Given the description of an element on the screen output the (x, y) to click on. 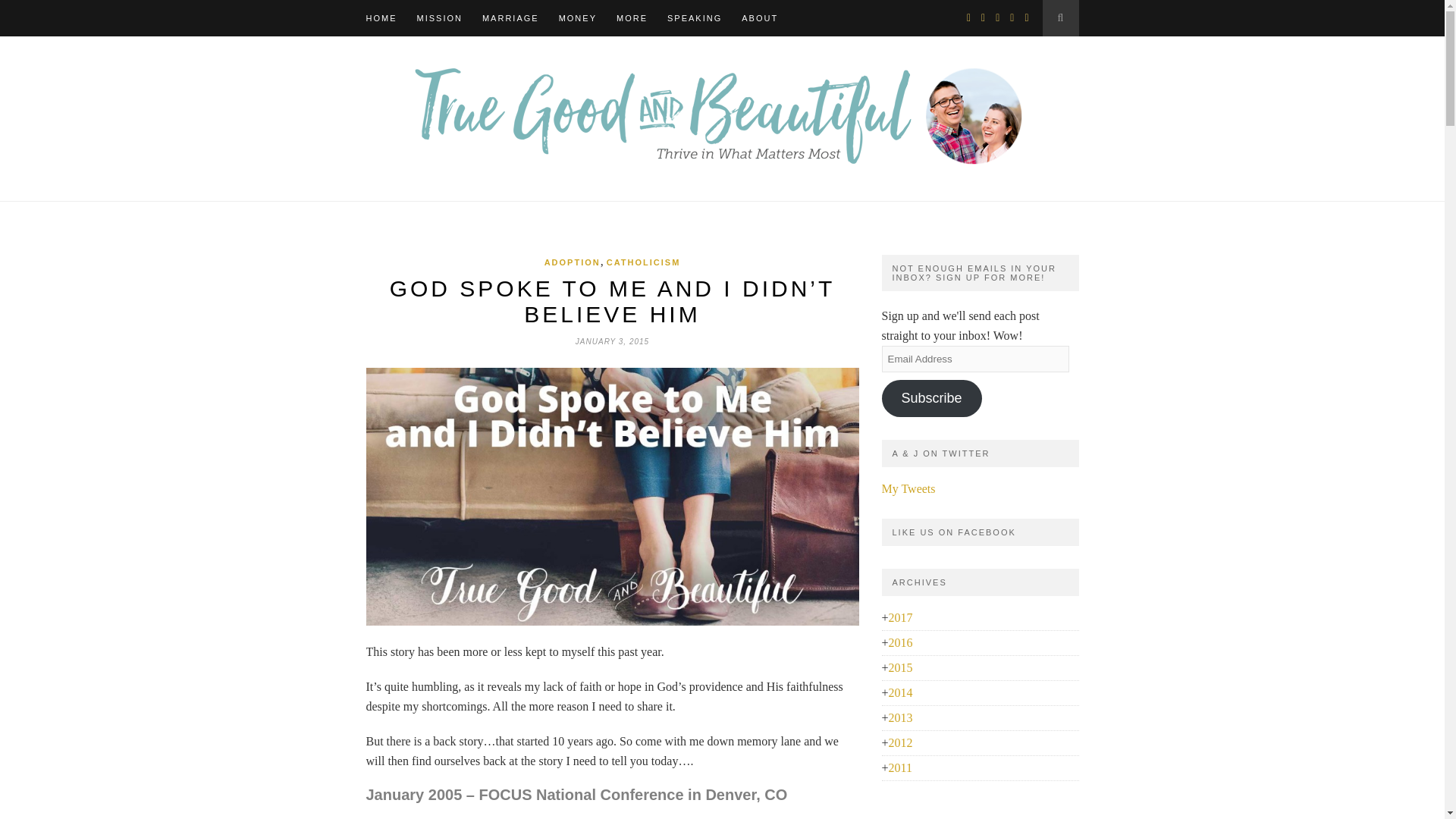
SPEAKING (694, 18)
MARRIAGE (509, 18)
MISSION (439, 18)
CATHOLICISM (644, 261)
MONEY (577, 18)
View all posts in Catholicism (644, 261)
click to expand (896, 617)
ABOUT (759, 18)
View all posts in Adoption (571, 261)
ADOPTION (571, 261)
